Given the description of an element on the screen output the (x, y) to click on. 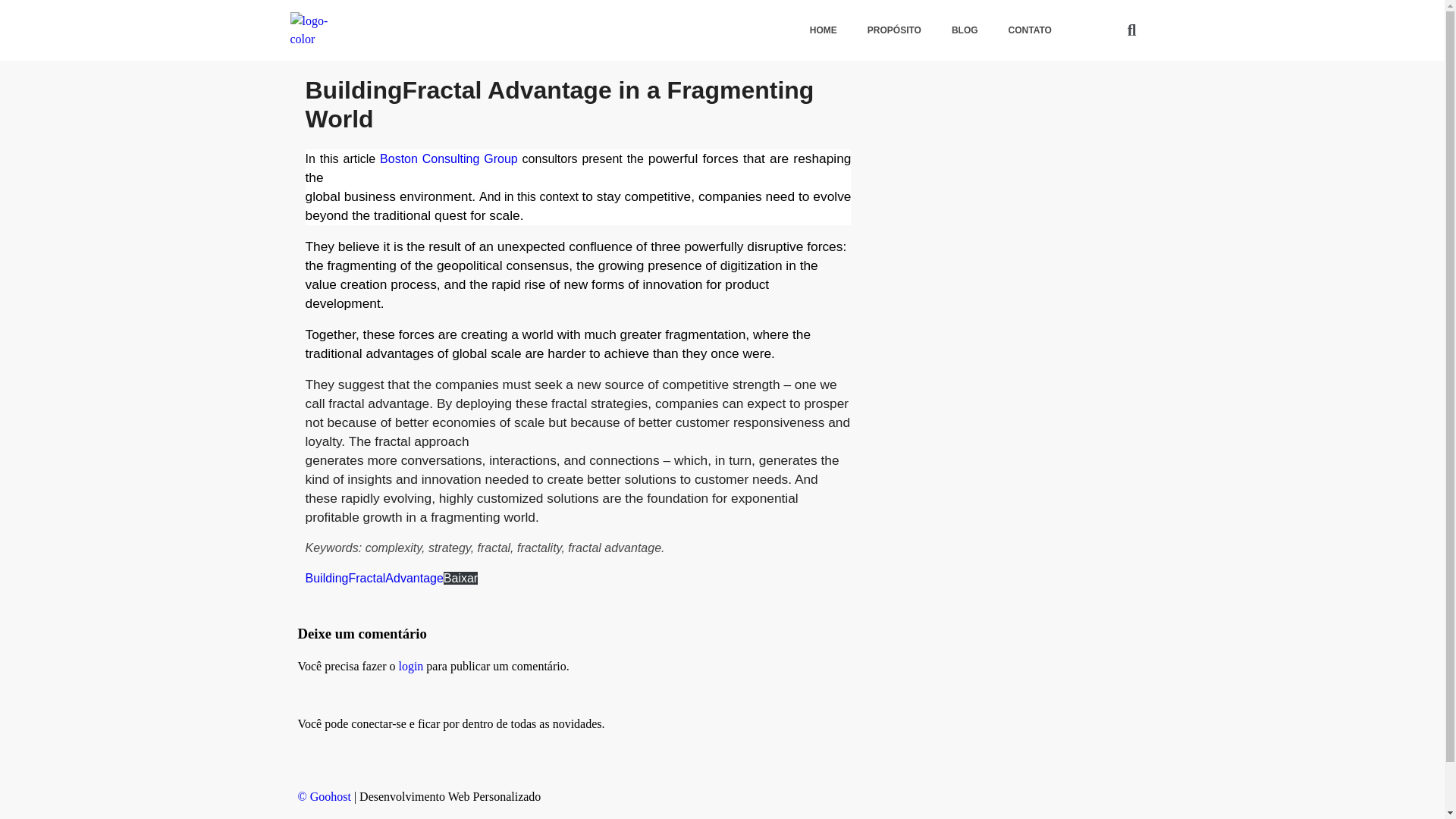
BuildingFractalAdvantage (373, 577)
logo-color (320, 30)
CONTATO (1029, 30)
HOME (822, 30)
BLOG (964, 30)
Boston Consulting Group (449, 158)
Baixar (460, 577)
login (410, 666)
